Given the description of an element on the screen output the (x, y) to click on. 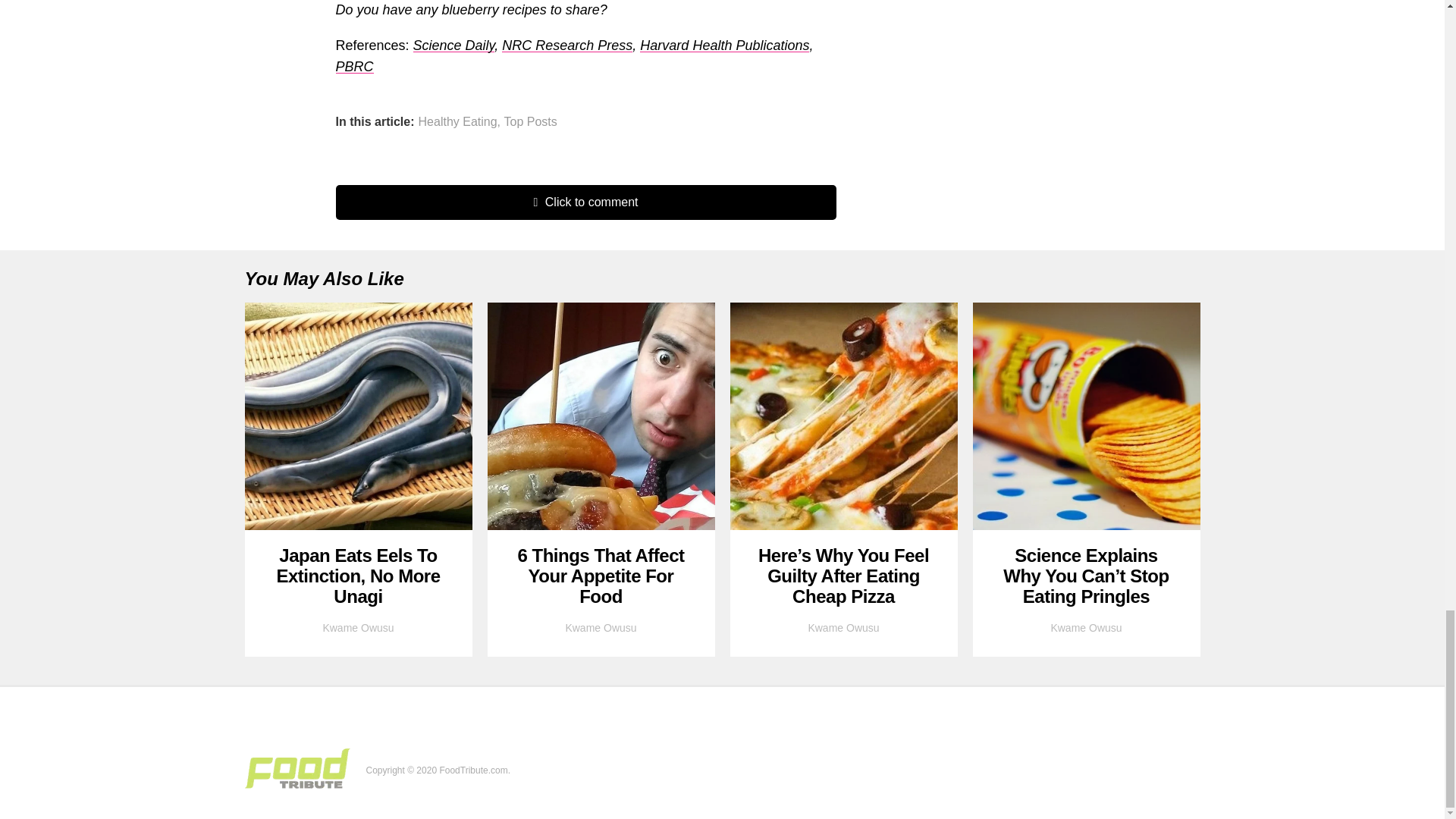
Science Daily (454, 45)
Posts by Kwame Owusu (600, 627)
Harvard Health Publications (724, 45)
Healthy Eating (458, 121)
Top Posts (529, 121)
PBRC (353, 66)
Posts by Kwame Owusu (357, 627)
Posts by Kwame Owusu (843, 627)
Posts by Kwame Owusu (1085, 627)
NRC Research Press (566, 45)
